Given the description of an element on the screen output the (x, y) to click on. 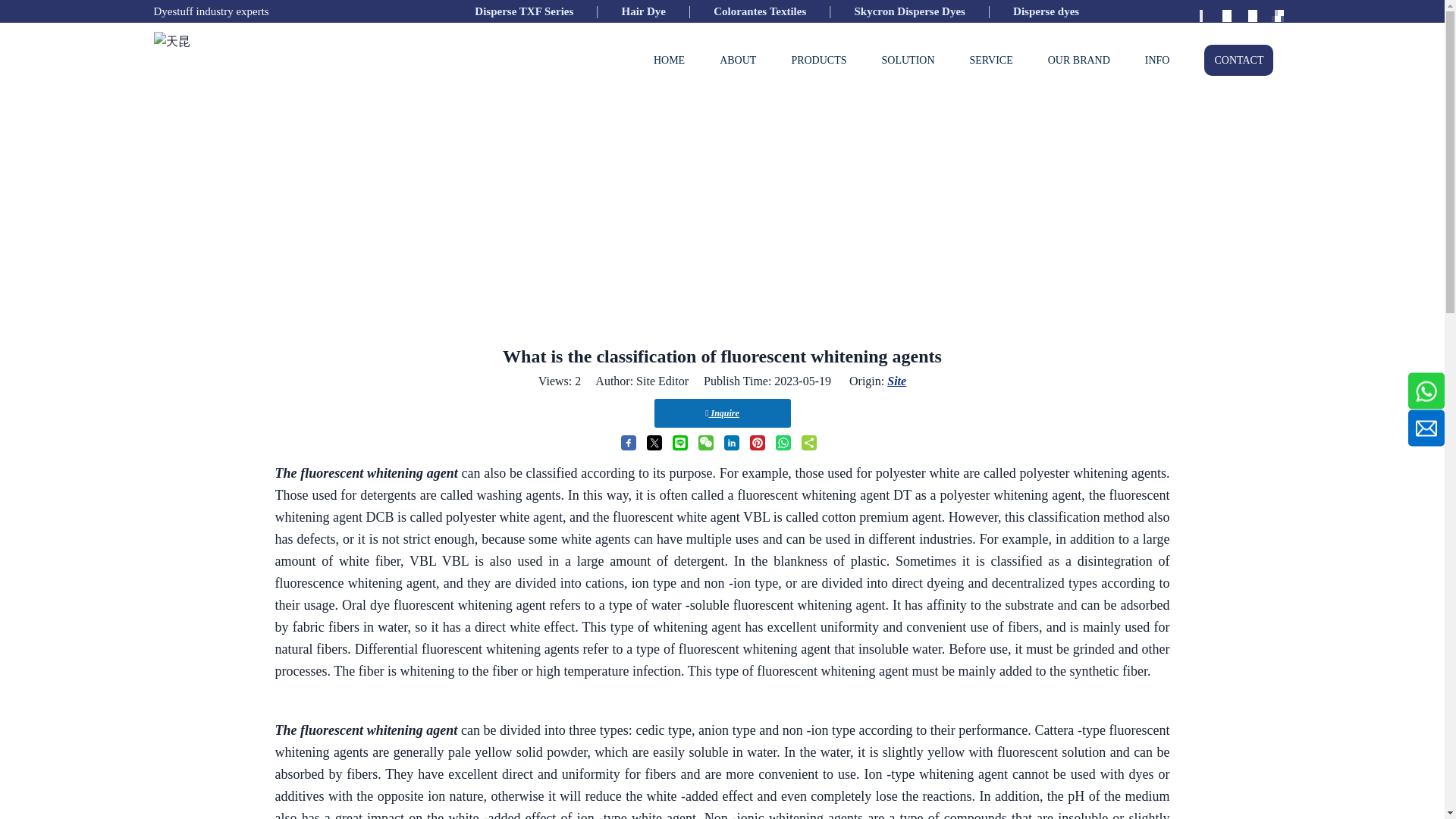
Disperse dyes (1045, 10)
HOME (668, 60)
Skycron Disperse Dyes (908, 10)
Facebook (1200, 12)
Disperse dyes (1045, 10)
Disperse TXF Series (523, 10)
PRODUCTS (818, 60)
Skycron Disperse Dyes (908, 10)
Linkedin (1224, 12)
Colorantes Textiles (759, 10)
Hair Dye (643, 10)
Hair Dye (643, 10)
Youtube (1250, 12)
Colorantes Textiles (759, 10)
Disperse TXF Series (523, 10)
